Given the description of an element on the screen output the (x, y) to click on. 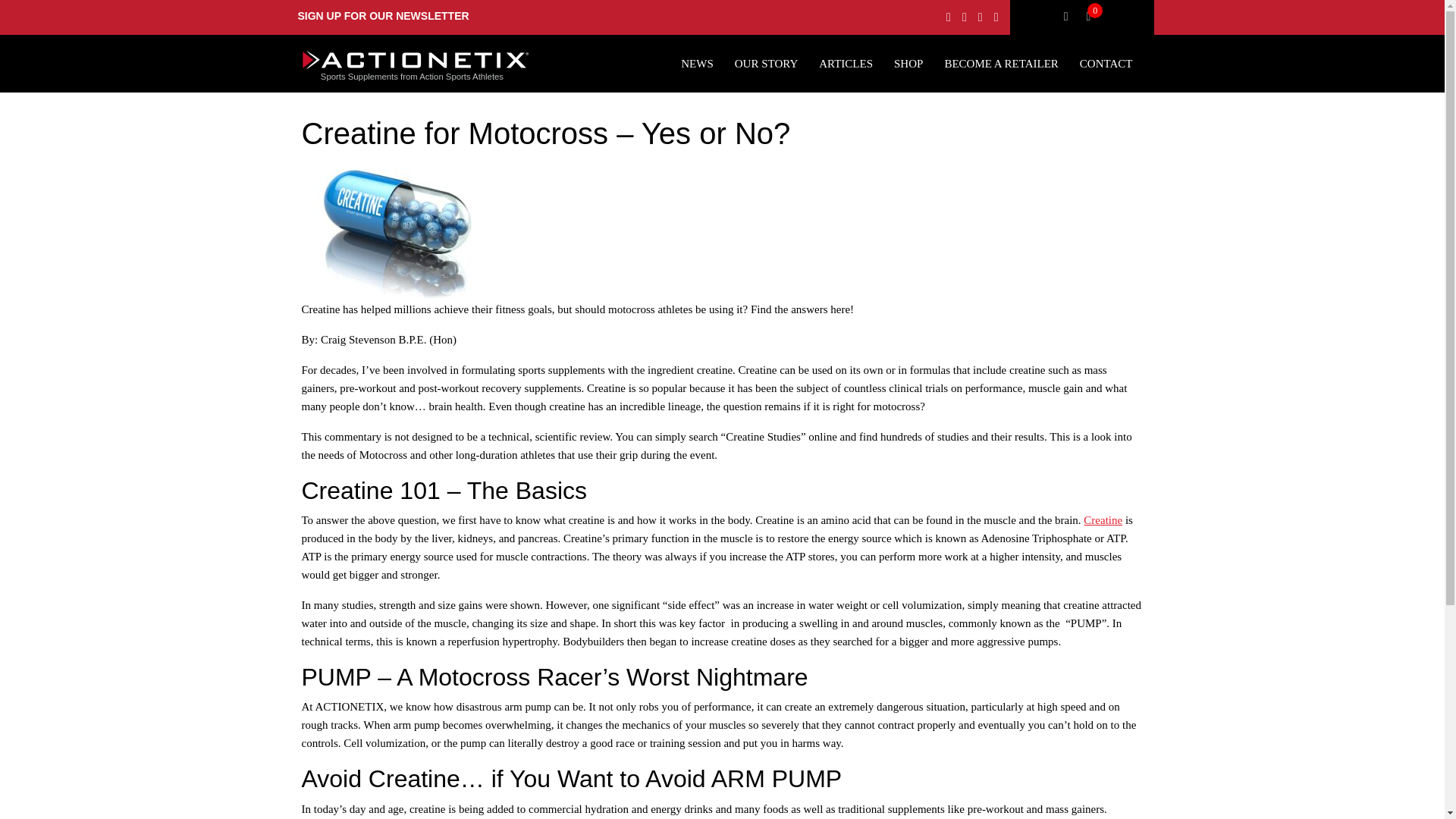
CONTACT (1106, 63)
BECOME A RETAILER (1000, 63)
View your shopping cart (1093, 16)
Creatine (1102, 520)
Our Story (766, 63)
Become a Retailer (1000, 63)
Articles (845, 63)
0 (1093, 16)
Actionetix (415, 66)
ARTICLES (845, 63)
